Given the description of an element on the screen output the (x, y) to click on. 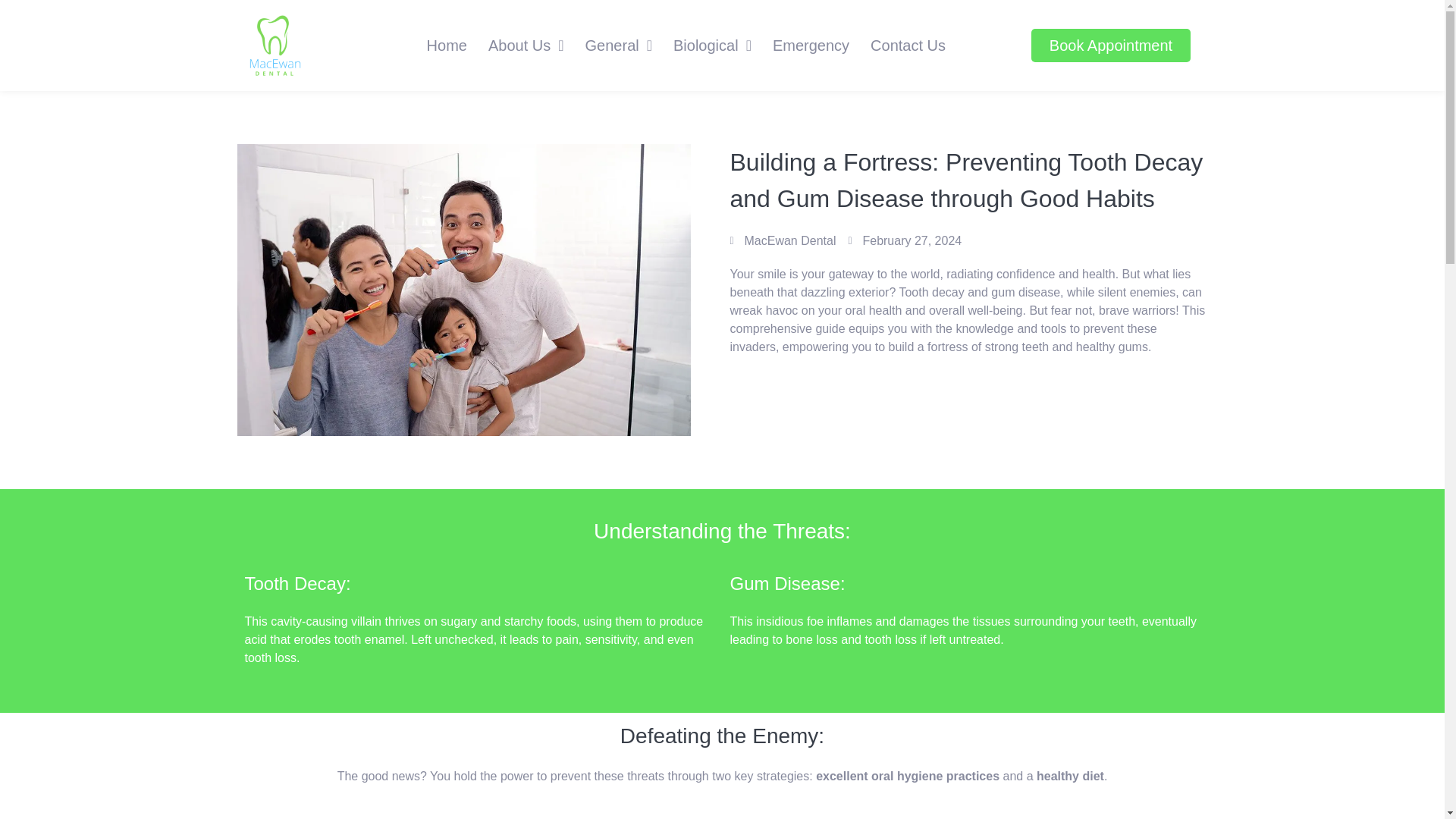
Home (446, 45)
General (618, 45)
Book Appointment (1110, 45)
Biological (711, 45)
About Us (526, 45)
Emergency (810, 45)
Contact Us (908, 45)
